Given the description of an element on the screen output the (x, y) to click on. 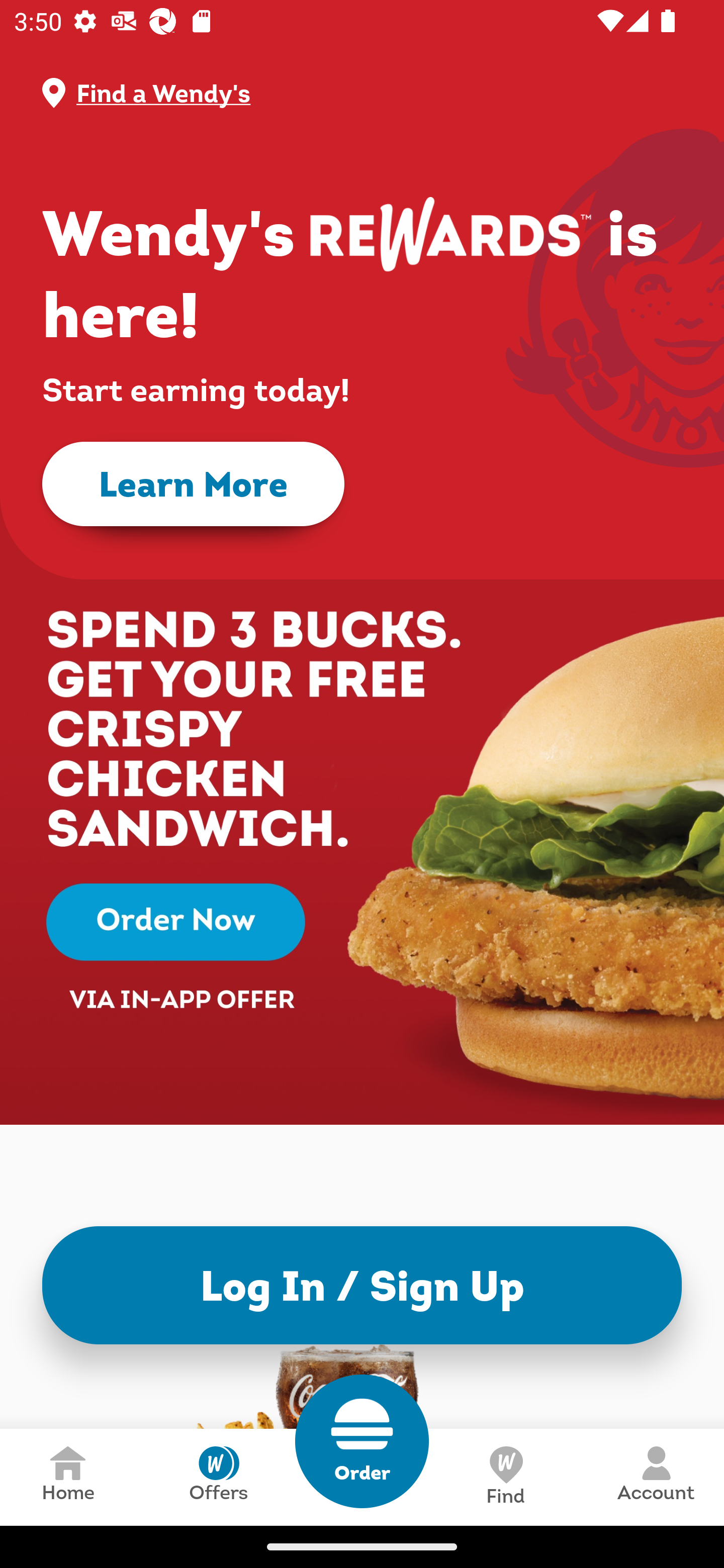
Find a Wendy's (378, 92)
Learn More (192, 484)
Campaign image (362, 807)
Log In / Sign Up (361, 1284)
Order,3 of 5 Order (361, 1441)
Home,1 of 5 Home (68, 1476)
Rewards,2 of 5 Offers Offers (218, 1476)
Scan,4 of 5 Find Find (505, 1476)
Account,5 of 5 Account (655, 1476)
